Given the description of an element on the screen output the (x, y) to click on. 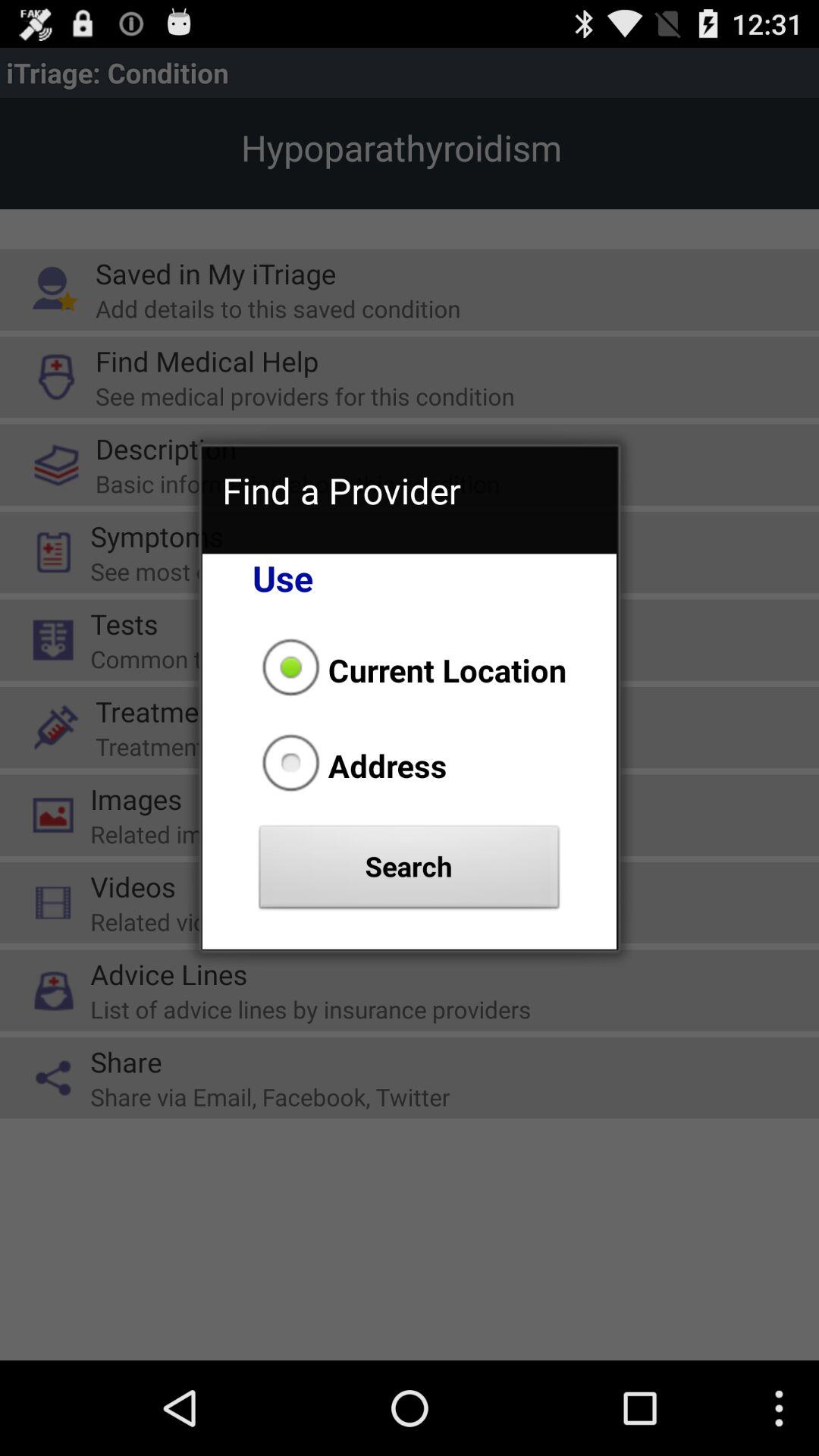
flip to the search (409, 871)
